Given the description of an element on the screen output the (x, y) to click on. 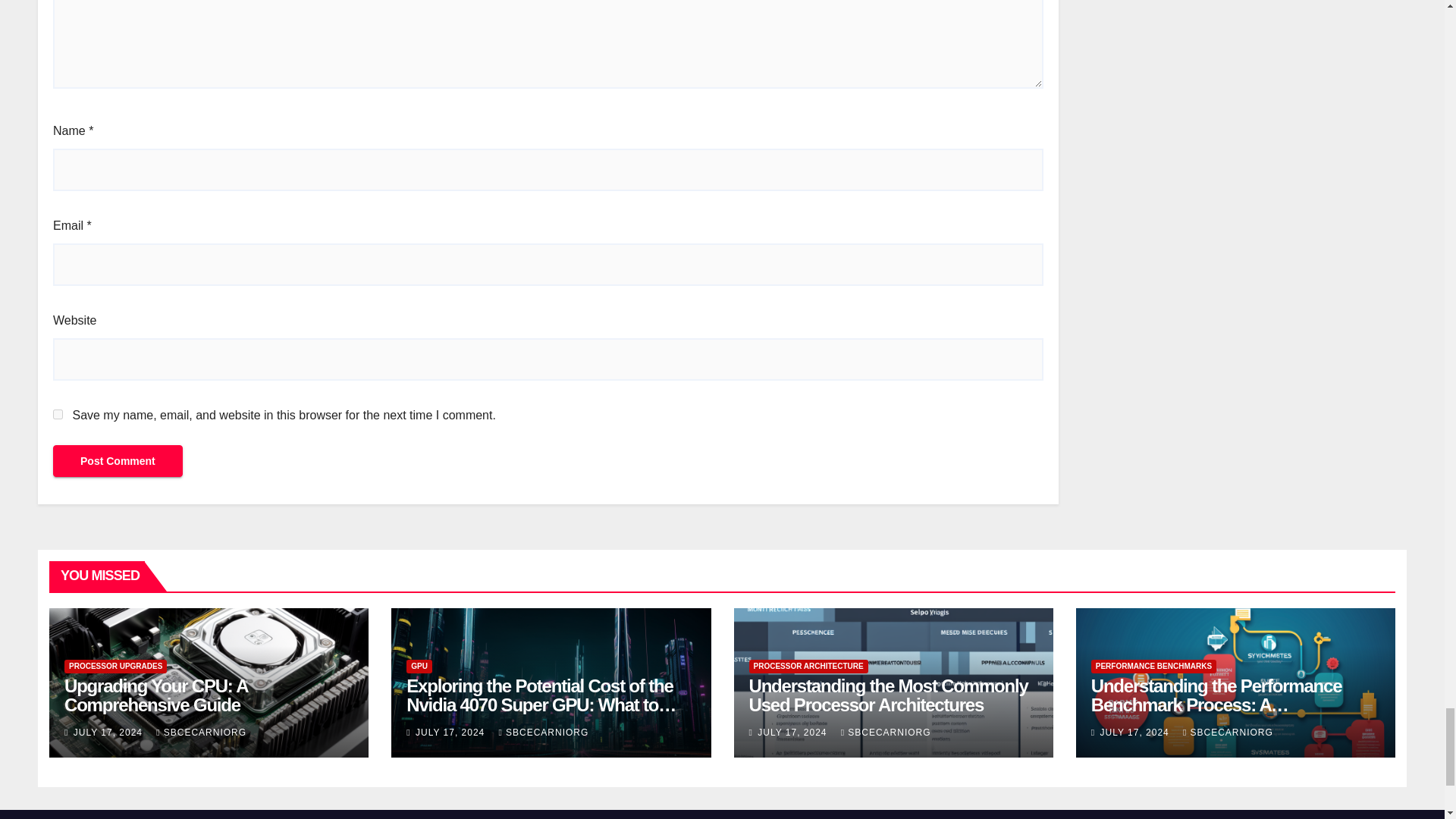
Post Comment (117, 460)
yes (57, 414)
